Given the description of an element on the screen output the (x, y) to click on. 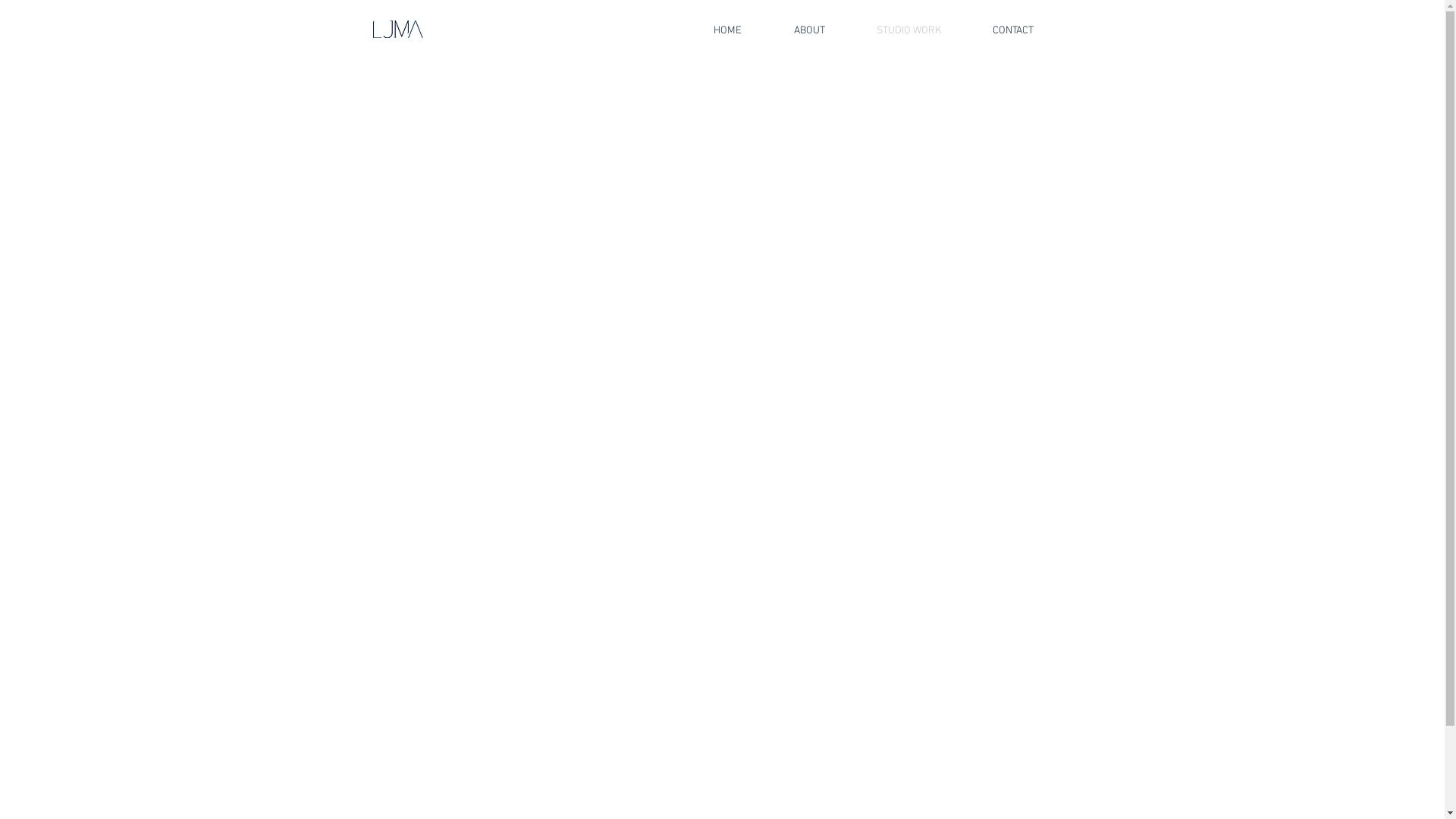
HOME Element type: text (727, 30)
CONTACT Element type: text (1012, 30)
STUDIO WORK Element type: text (908, 30)
ABOUT Element type: text (808, 30)
